Given the description of an element on the screen output the (x, y) to click on. 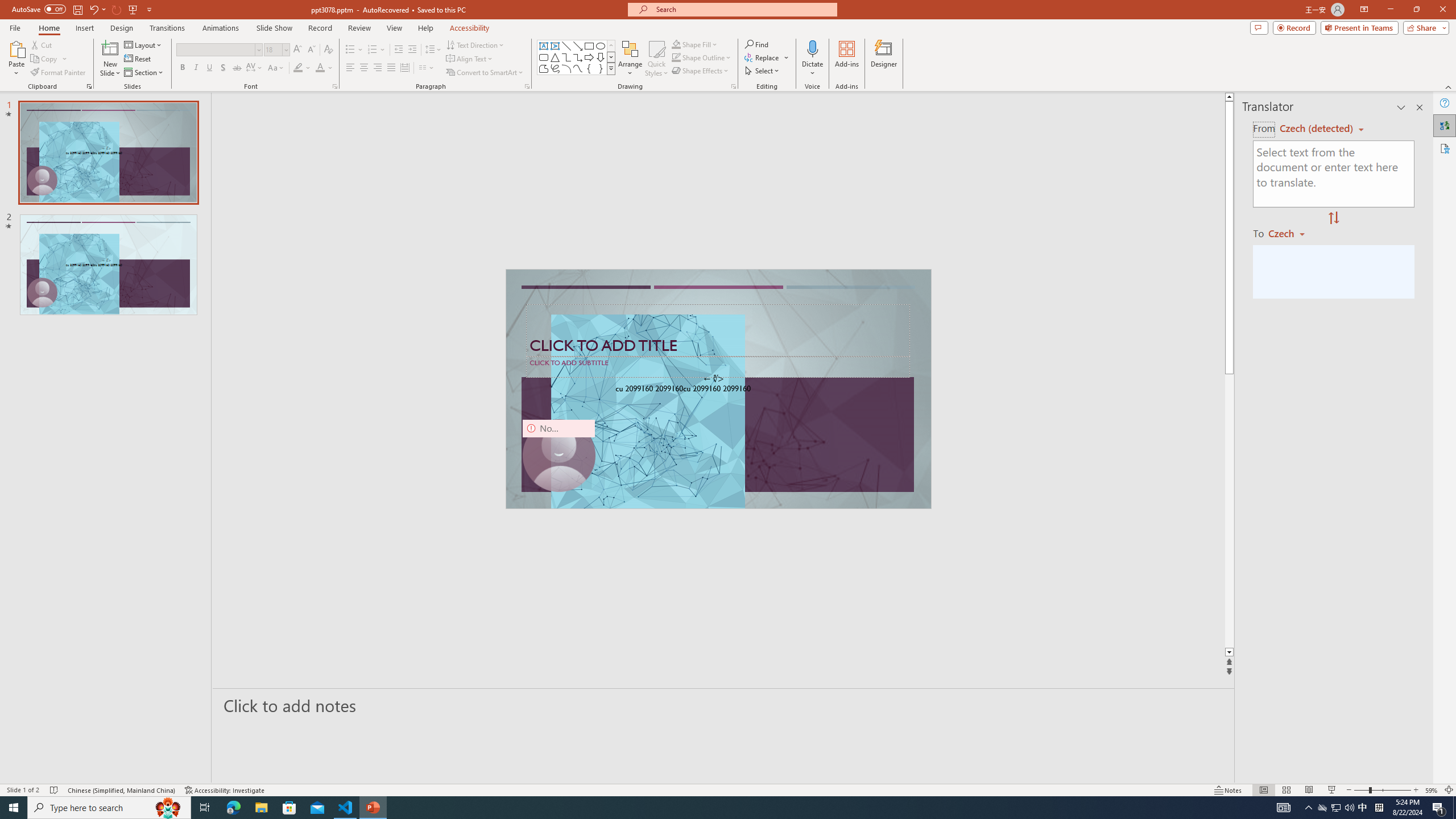
Subtitle TextBox (717, 366)
Text Highlight Color Yellow (297, 67)
Swap "from" and "to" languages. (1333, 218)
